Given the description of an element on the screen output the (x, y) to click on. 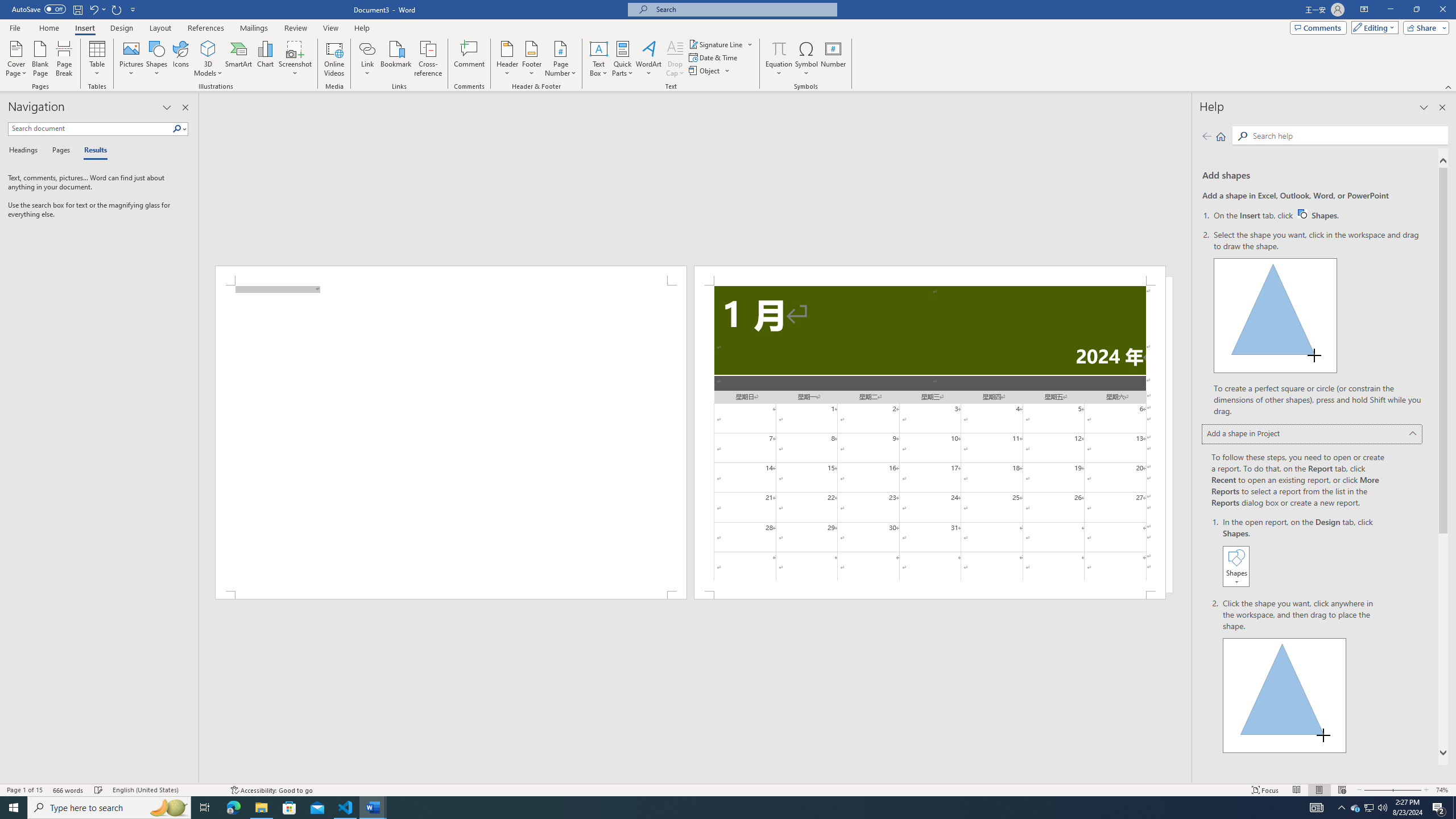
Icons (180, 58)
Screenshot (1318, 214)
Page Number Page 1 of 15 (295, 58)
Comment (24, 790)
Object... (469, 58)
Page Break (709, 69)
Object... (63, 58)
